Given the description of an element on the screen output the (x, y) to click on. 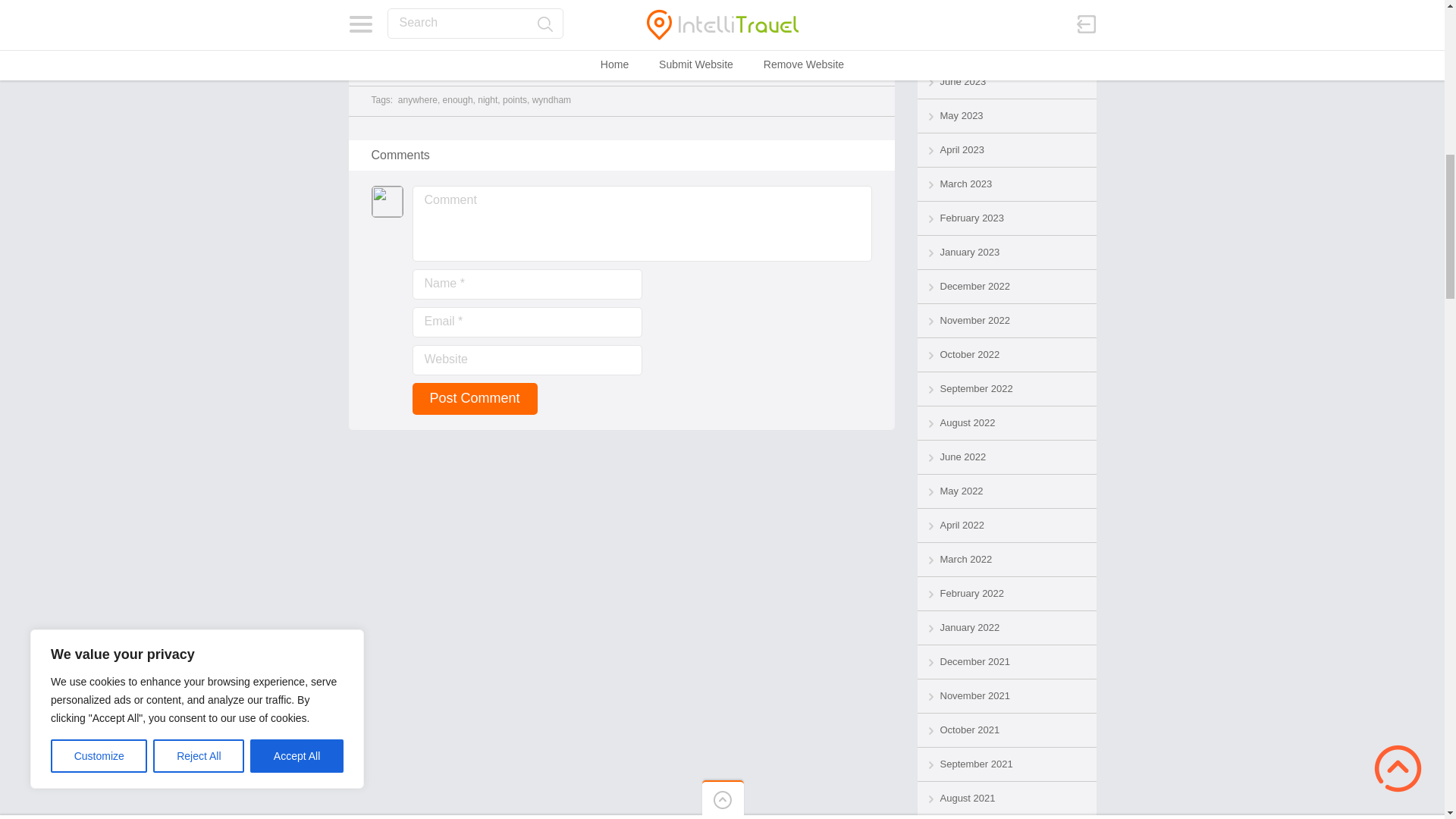
Post Comment (474, 398)
